Given the description of an element on the screen output the (x, y) to click on. 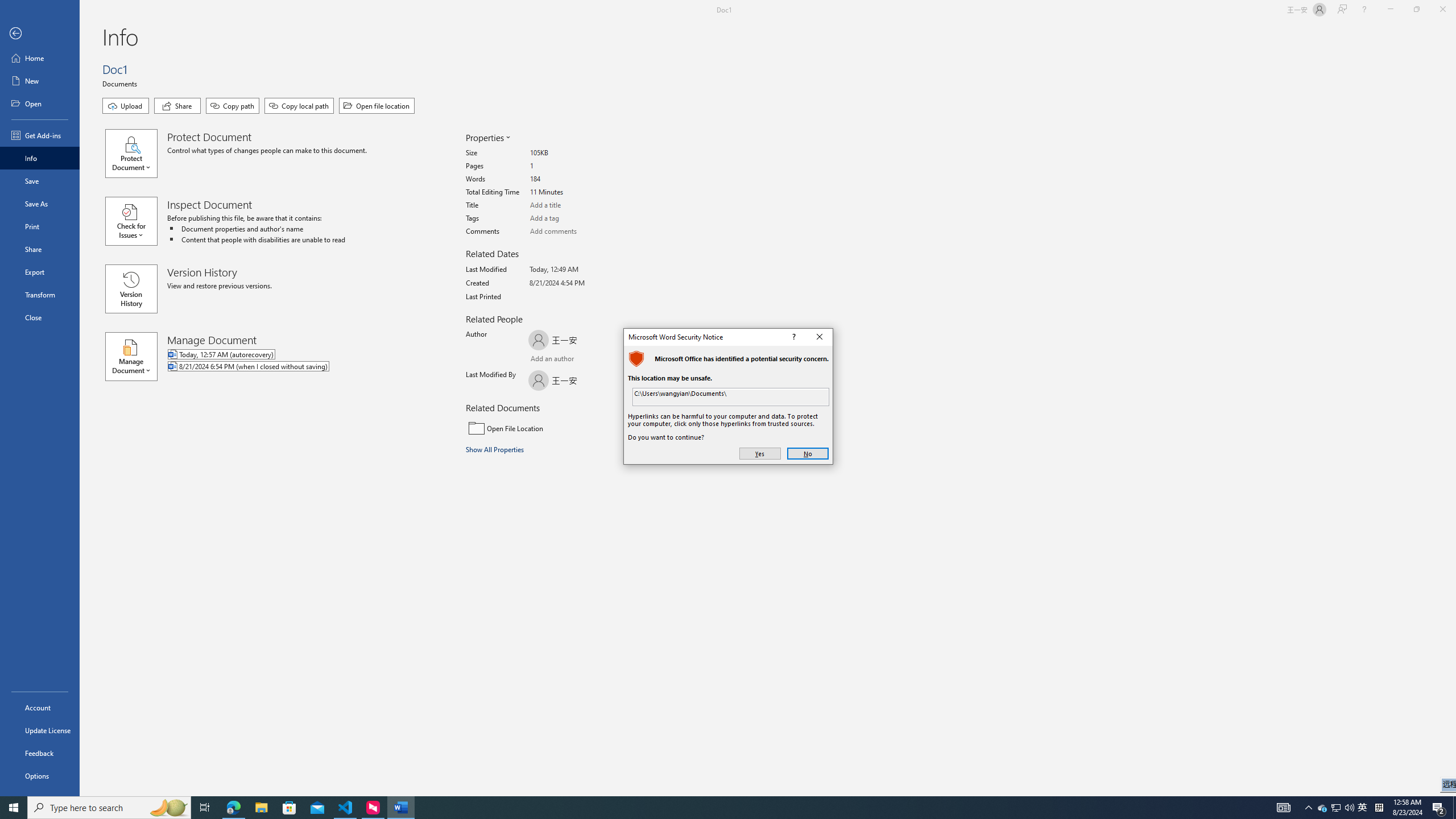
Update License (40, 730)
 Today, 12:57 AM (autorecovery) (295, 354)
Yes (759, 453)
Size (572, 153)
Documents (120, 83)
Context help (793, 336)
Open File Location (541, 427)
Options (40, 775)
Account (40, 707)
